Given the description of an element on the screen output the (x, y) to click on. 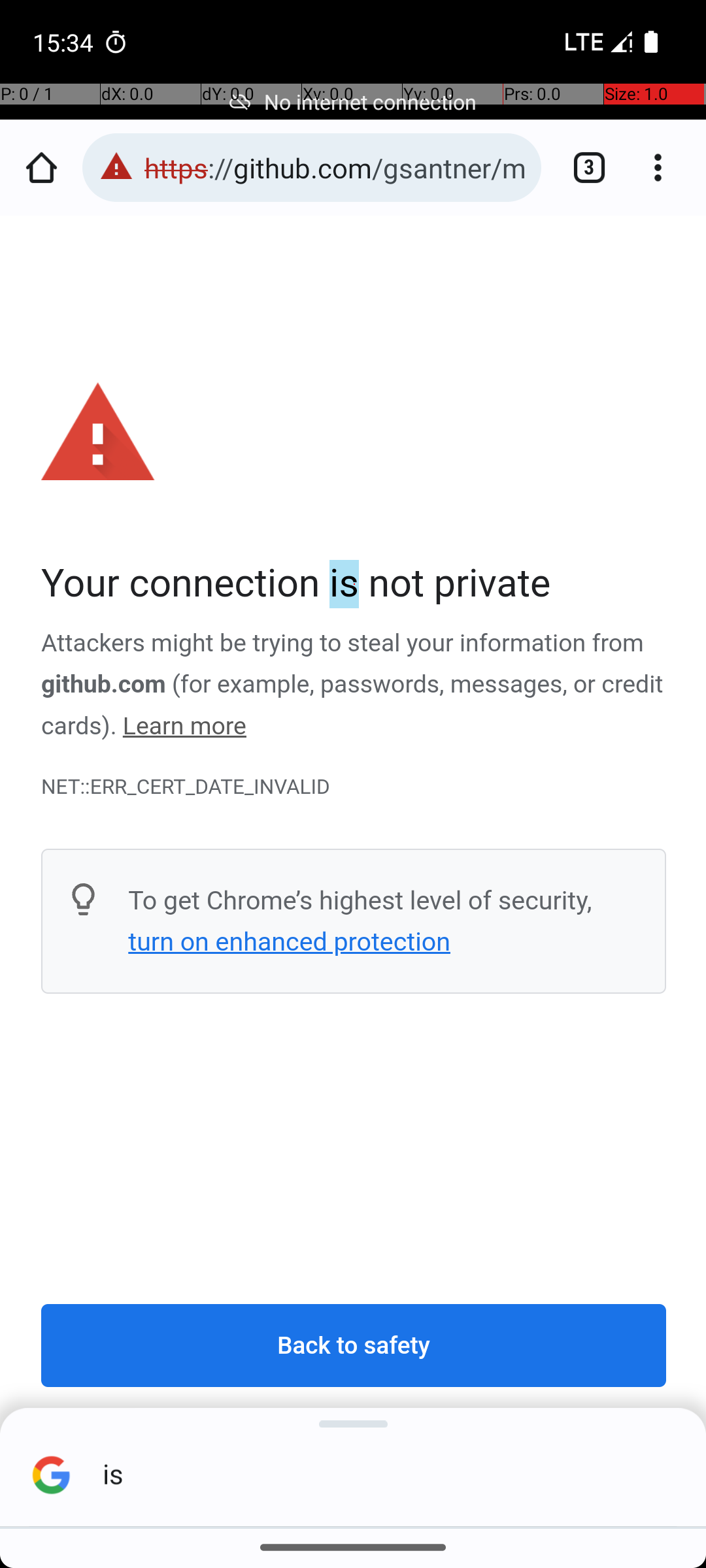
https://github.com/gsantner/markor/issues/new/choose Element type: android.widget.EditText (335, 167)
